Given the description of an element on the screen output the (x, y) to click on. 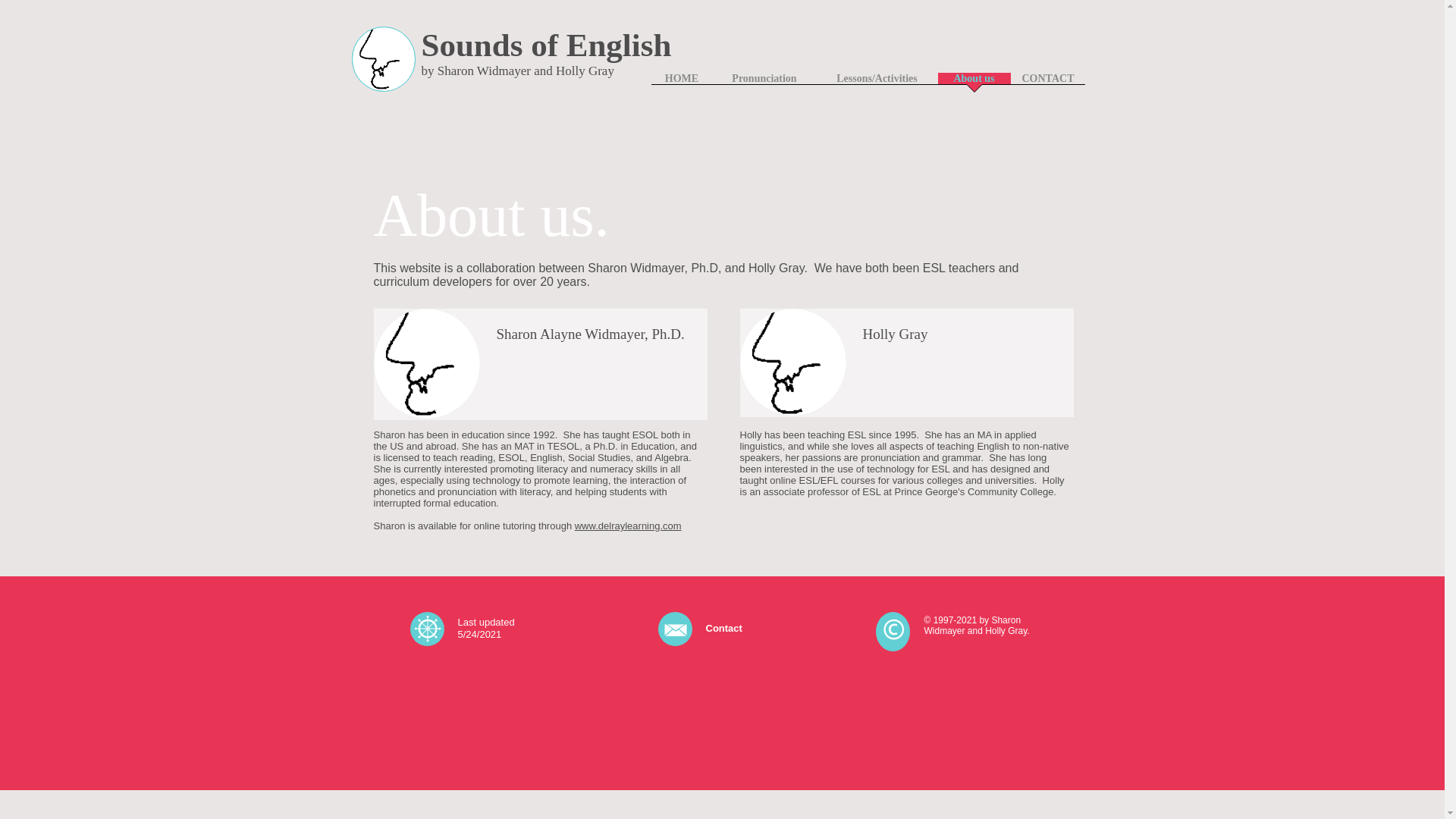
www.delraylearning.com (628, 525)
Sounds of English (546, 45)
logo2.gif (425, 363)
CONTACT (1047, 83)
Pronunciation (764, 83)
logo2.gif (792, 361)
HOME (680, 83)
About us (973, 83)
